Given the description of an element on the screen output the (x, y) to click on. 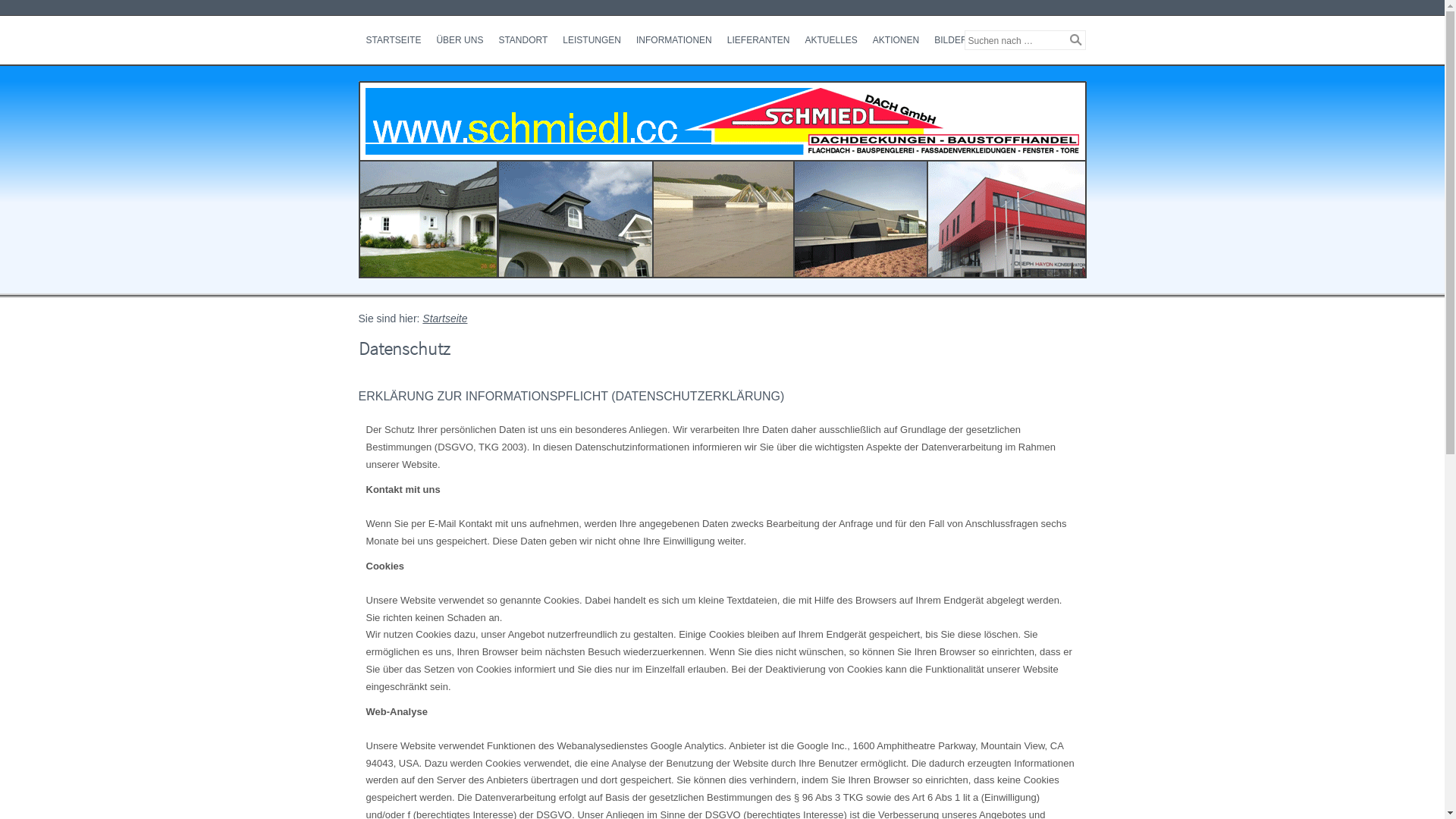
INFORMATIONEN Element type: text (673, 39)
Startseite Element type: text (444, 318)
LIEFERANTEN Element type: text (758, 39)
STANDORT Element type: text (522, 39)
STARTSEITE Element type: text (392, 39)
LEISTUNGEN Element type: text (591, 39)
AKTIONEN Element type: text (895, 39)
BILDERGALERIE Element type: text (969, 39)
AKTUELLES Element type: text (830, 39)
